Given the description of an element on the screen output the (x, y) to click on. 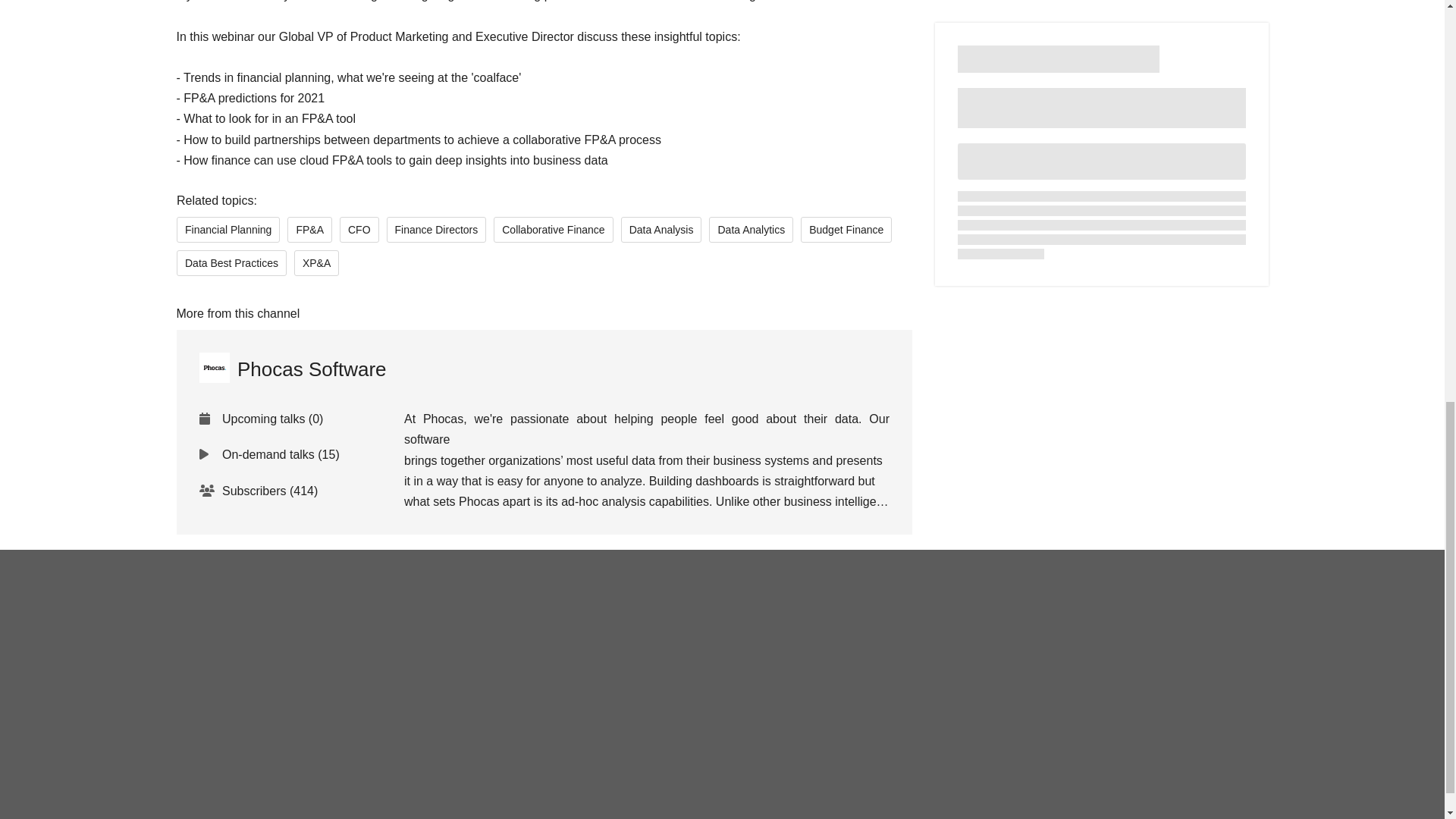
Data Analysis (660, 229)
Collaborative Finance (552, 229)
Data Best Practices (230, 263)
Visit Phocas Software's channel (291, 368)
Budget Finance (845, 229)
Financial Planning (227, 229)
CFO (358, 229)
Finance Directors (435, 229)
Data Analytics (751, 229)
Phocas Software (291, 368)
